Given the description of an element on the screen output the (x, y) to click on. 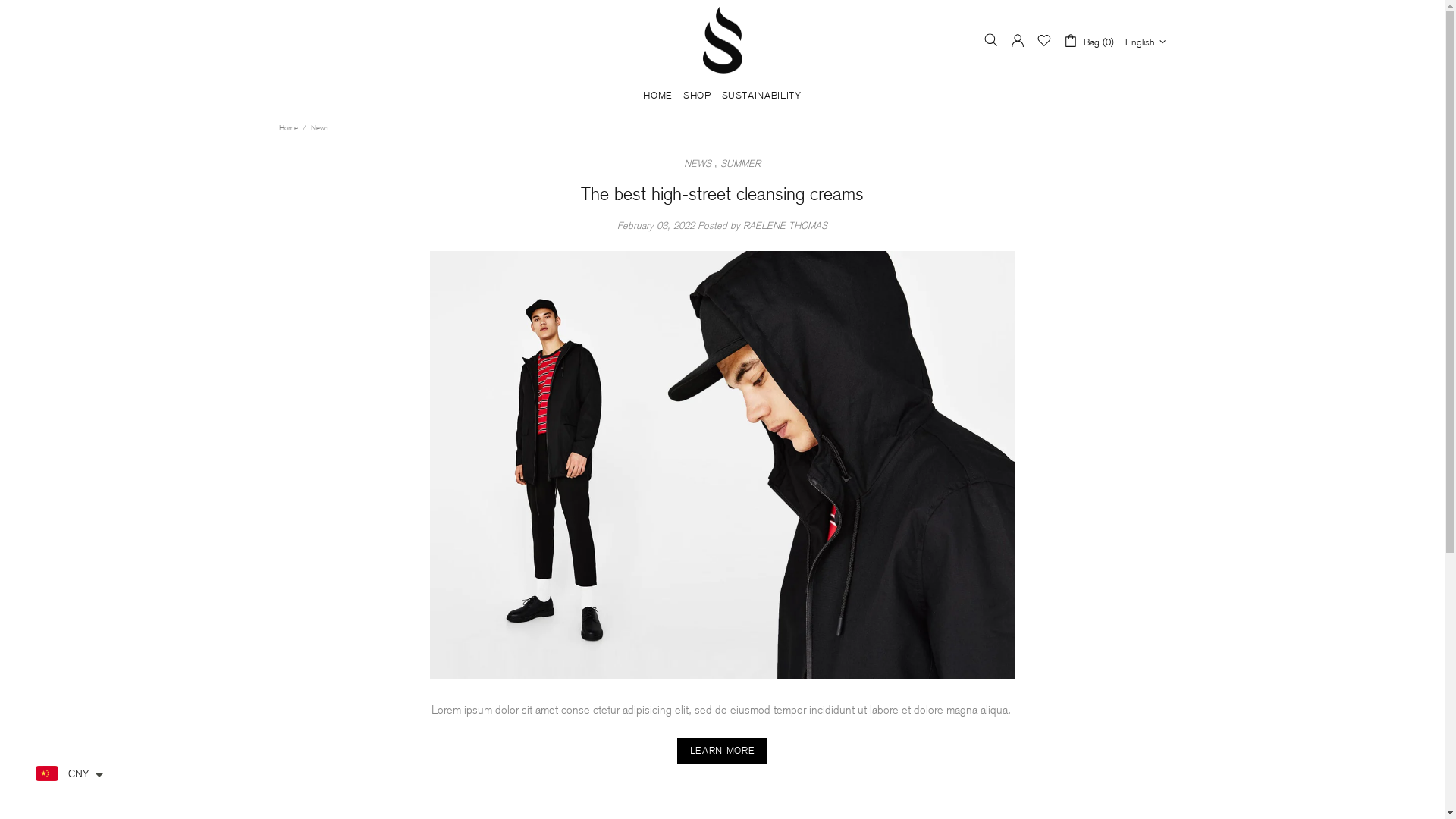
The best high-street cleansing creams Element type: text (721, 194)
NEWS Element type: text (697, 162)
SERAE Element type: text (721, 39)
HOME Element type: text (657, 95)
SHOP Element type: text (696, 95)
LEARN MORE Element type: text (722, 750)
SUSTAINABILITY Element type: text (761, 95)
Home Element type: text (287, 128)
Bag (0) Element type: text (1088, 40)
SUMMER Element type: text (740, 162)
